Given the description of an element on the screen output the (x, y) to click on. 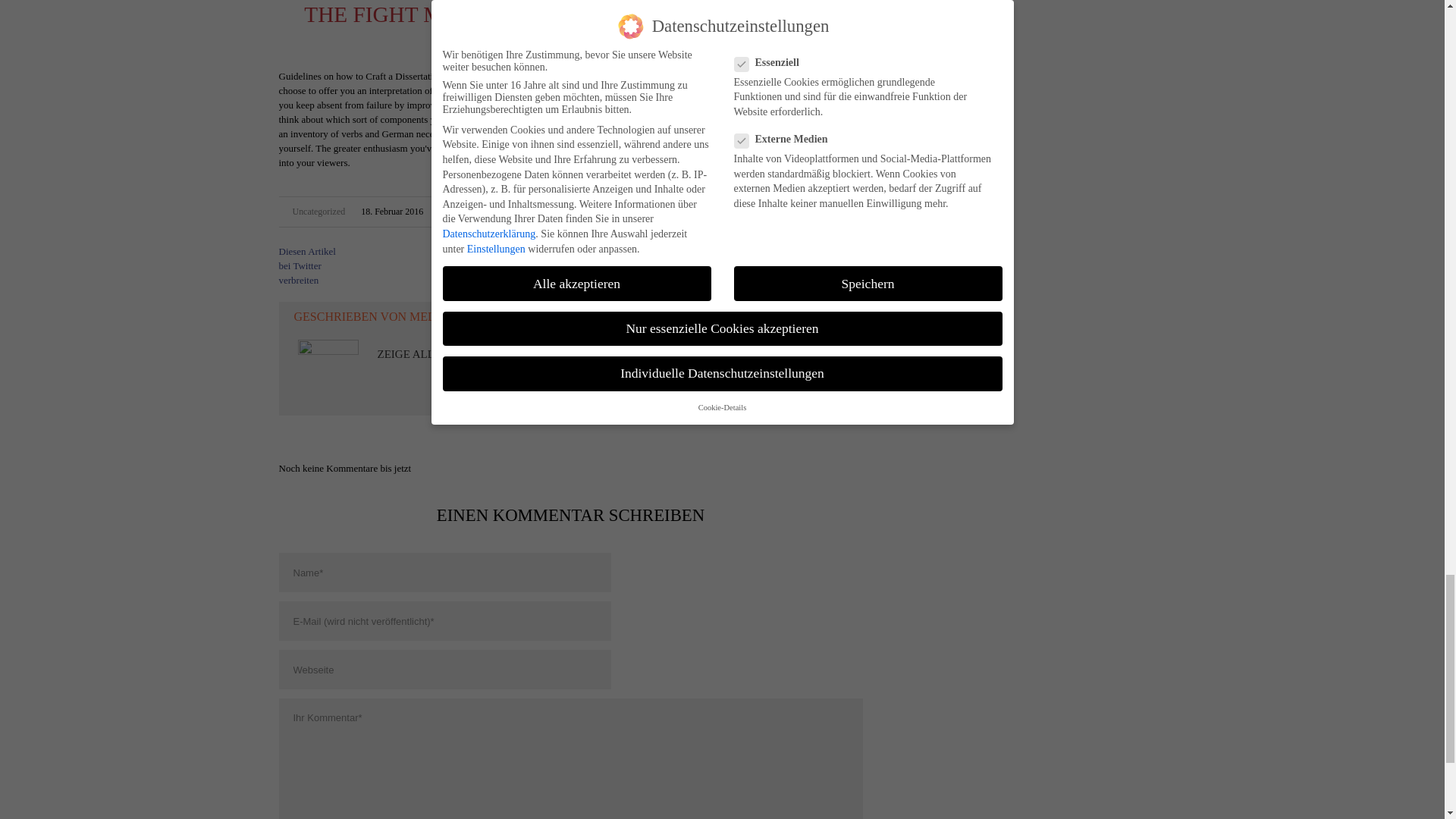
Webseite (445, 669)
